Given the description of an element on the screen output the (x, y) to click on. 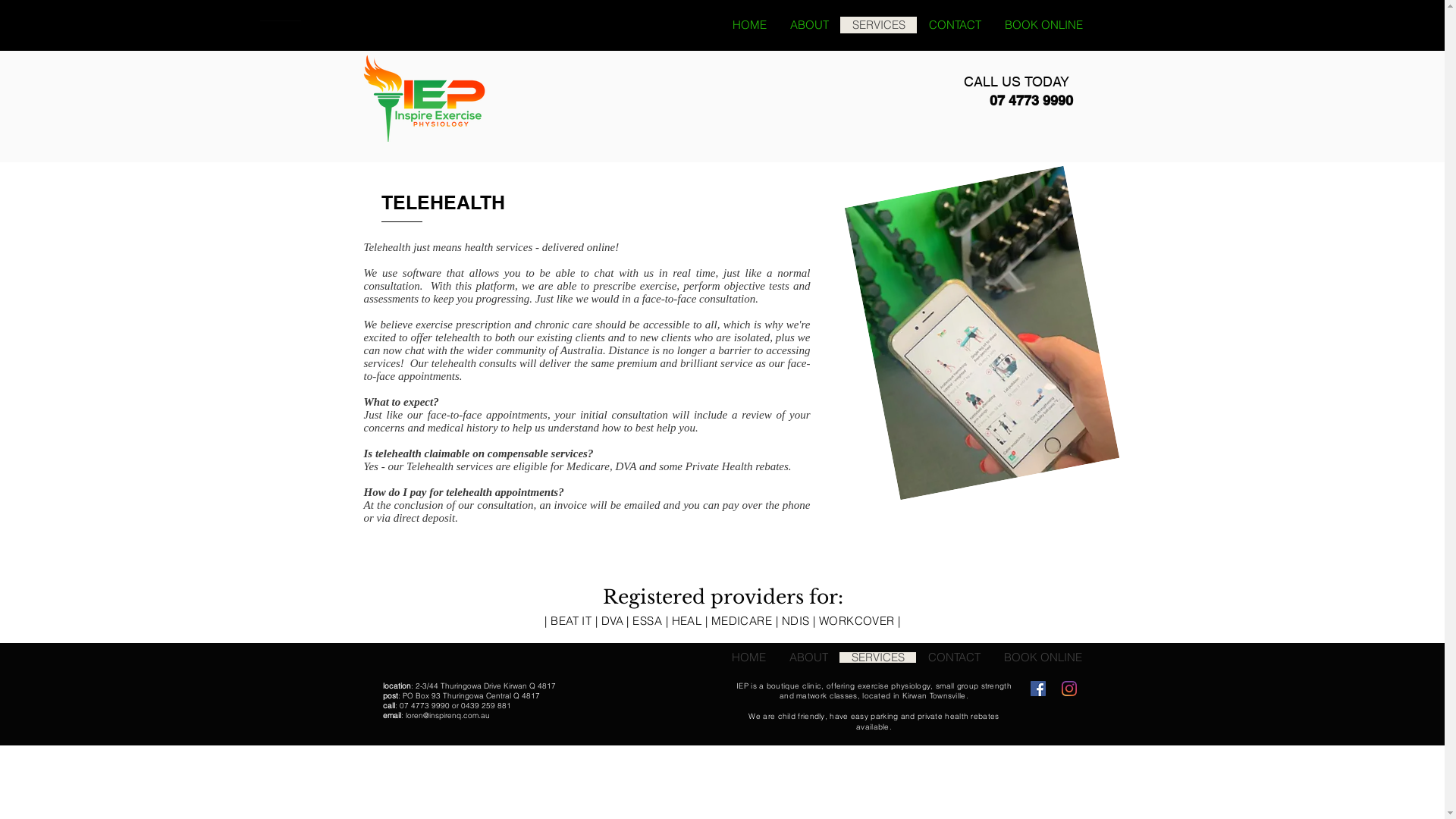
Wix.com Element type: text (519, 787)
HOME Element type: text (749, 24)
ABOUT Element type: text (809, 24)
HOME Element type: text (747, 657)
CONTACT Element type: text (953, 24)
ABOUT Element type: text (807, 657)
BOOK ONLINE Element type: text (1042, 657)
SERVICES Element type: text (878, 24)
SERVICES Element type: text (876, 657)
BOOK ONLINE Element type: text (1042, 24)
loren@inspirenq.com.au Element type: text (446, 715)
CONTACT Element type: text (953, 657)
IEP_PA4.jpg Element type: hover (955, 314)
